Given the description of an element on the screen output the (x, y) to click on. 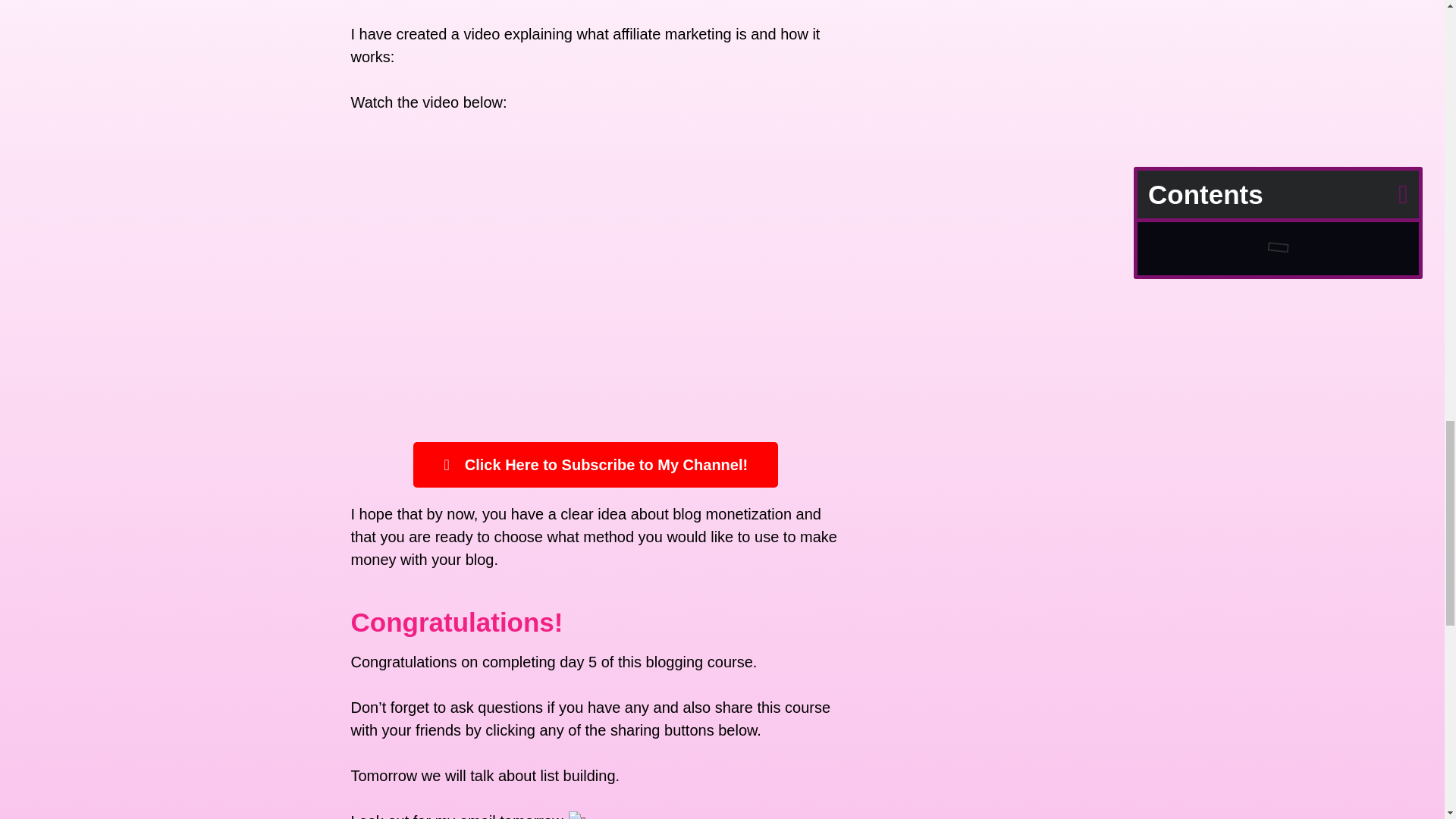
Click Here to Subscribe to My Channel! (595, 464)
